Given the description of an element on the screen output the (x, y) to click on. 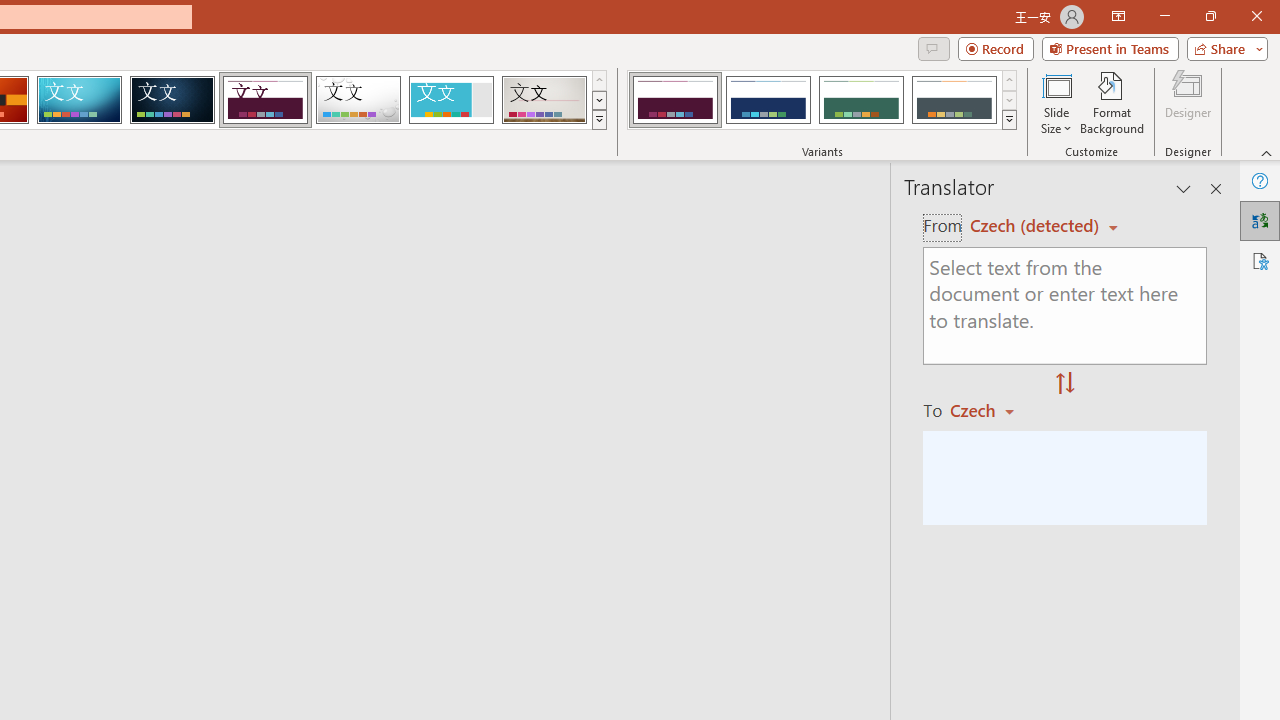
Variants (1009, 120)
Frame (450, 100)
AutomationID: ThemeVariantsGallery (822, 99)
Dividend Variant 3 (861, 100)
Circuit (79, 100)
